Given the description of an element on the screen output the (x, y) to click on. 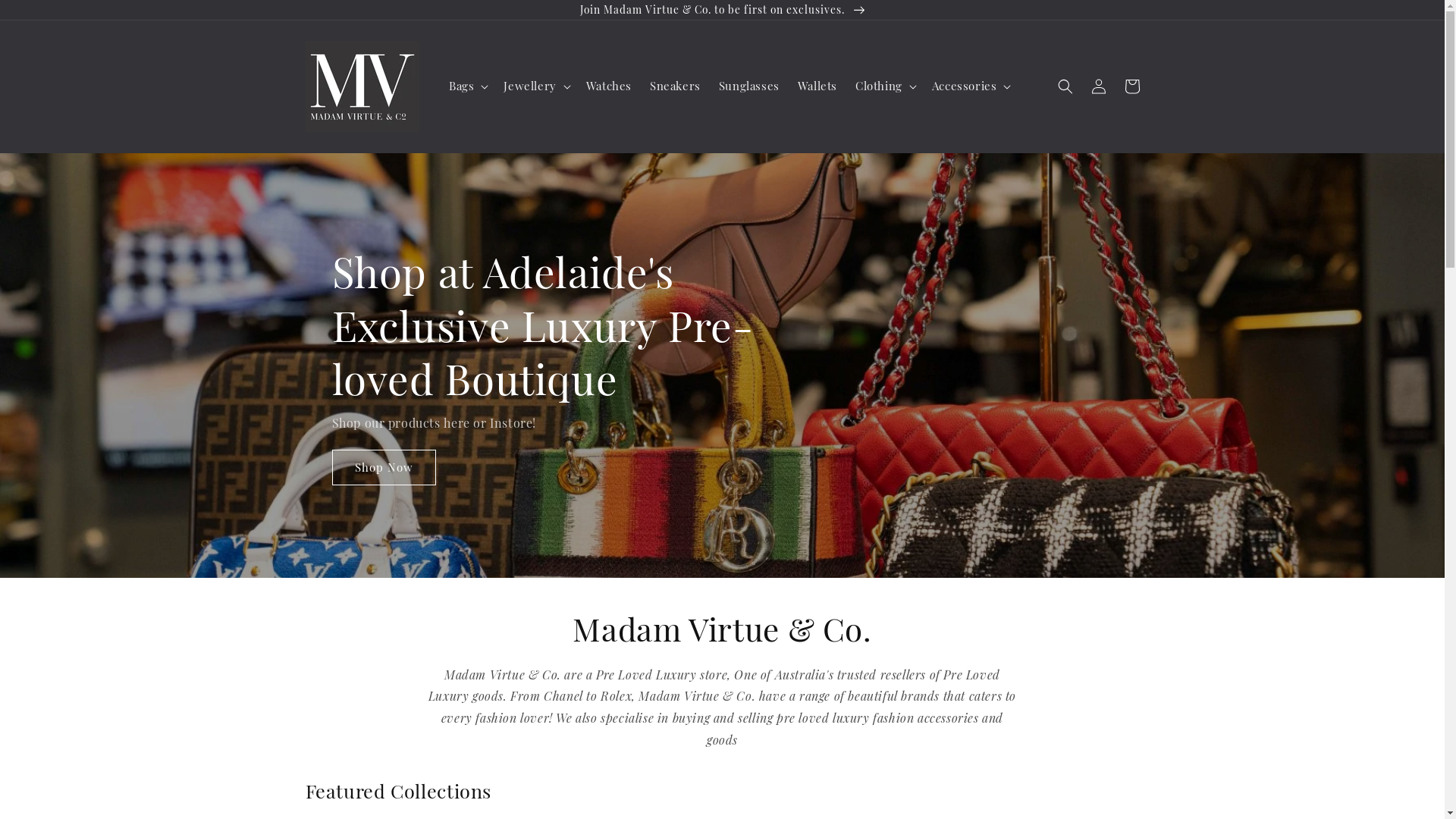
Shop Now Element type: text (384, 467)
Sneakers Element type: text (674, 86)
Cart Element type: text (1131, 86)
Join Madam Virtue & Co. to be first on exclusives. Element type: text (722, 9)
Wallets Element type: text (817, 86)
Sunglasses Element type: text (748, 86)
Watches Element type: text (608, 86)
Log in Element type: text (1097, 86)
